Given the description of an element on the screen output the (x, y) to click on. 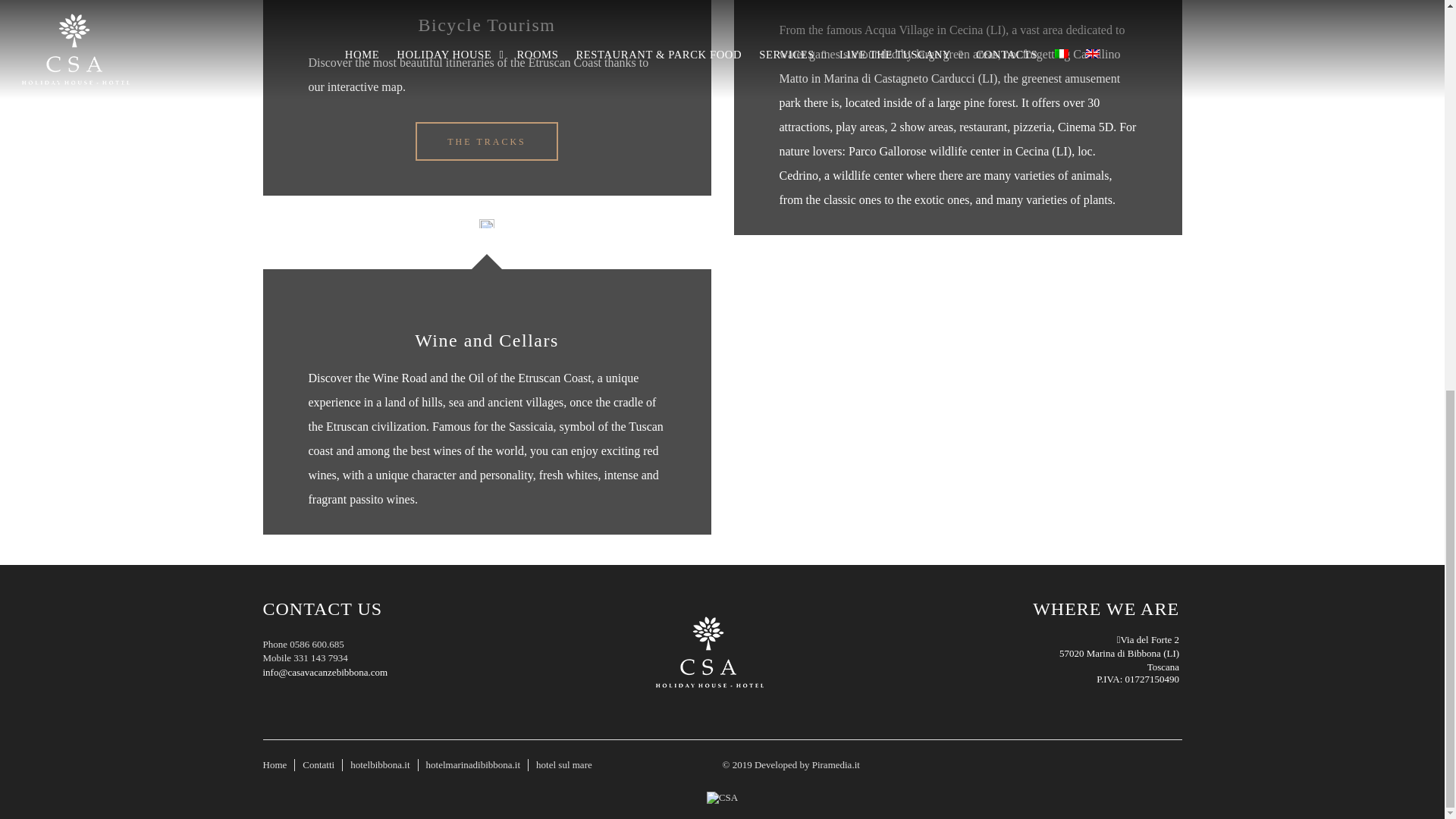
Home (274, 764)
Contatti (318, 764)
hotelmarinadibibbona.it (473, 764)
331 143 7934 (320, 657)
0586 600.685 (316, 644)
hotelbibbona.it (379, 764)
hotel sul mare (563, 764)
Piramedia.it (836, 764)
THE TRACKS (485, 141)
